Given the description of an element on the screen output the (x, y) to click on. 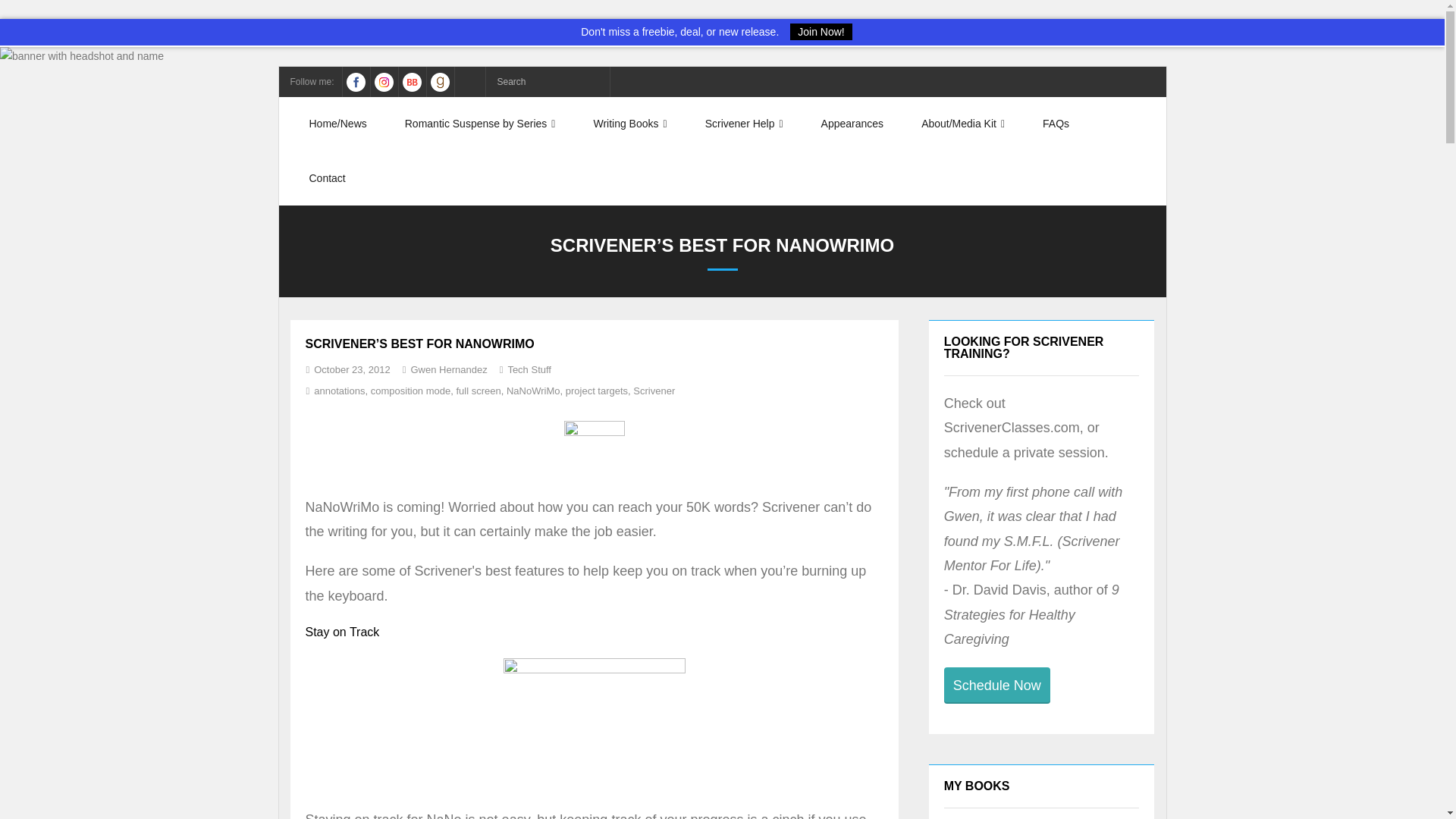
ProjTgtsNaNo (594, 724)
FAQs (1055, 123)
Contact (326, 178)
Writing Books (629, 123)
Generic-180x180 (594, 449)
Romantic Suspense by Series (480, 123)
Join Now! (820, 31)
View all posts by Gwen Hernandez (448, 369)
Appearances (852, 123)
Scrivener Help (743, 123)
Search (33, 15)
